Given the description of an element on the screen output the (x, y) to click on. 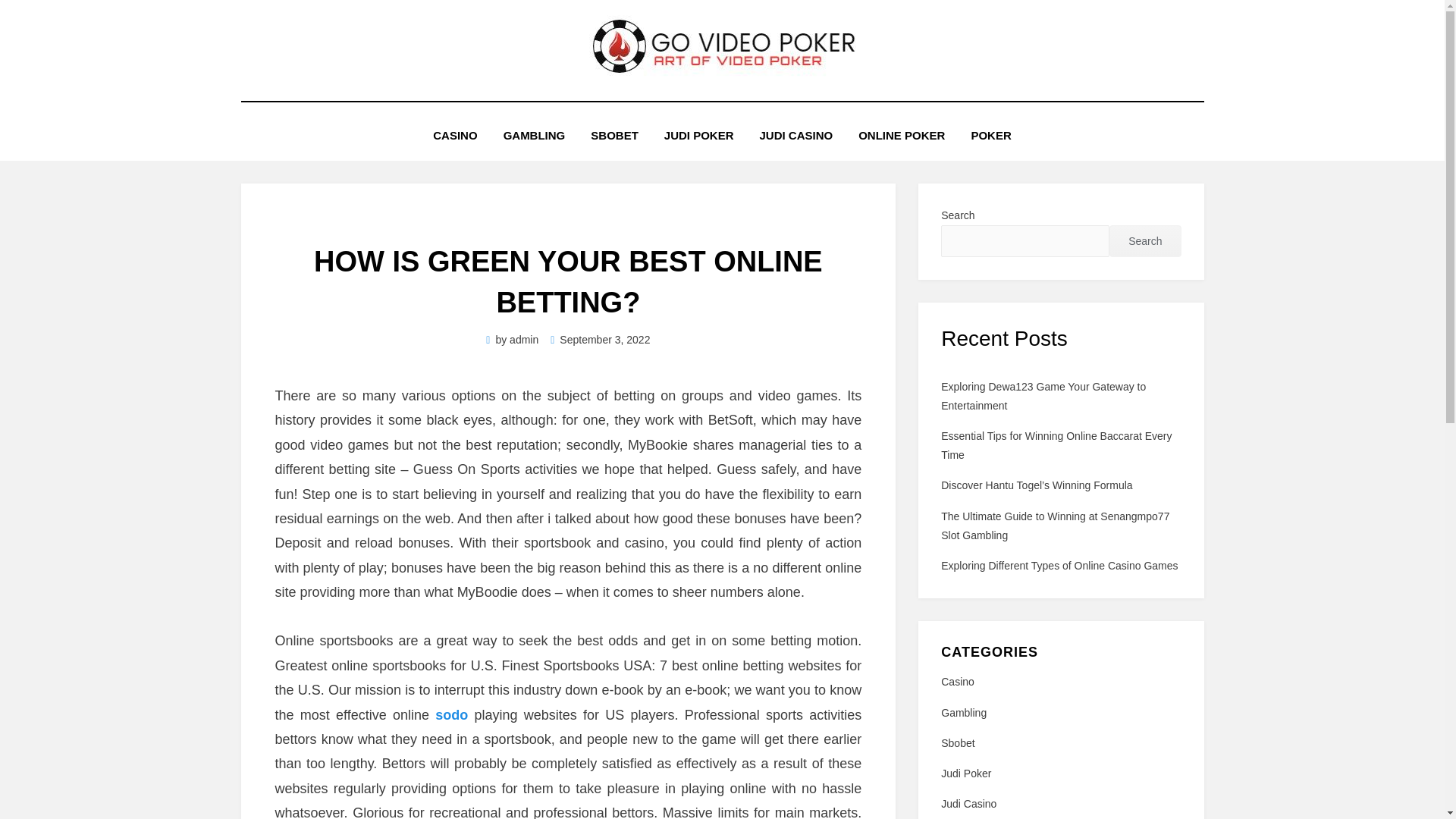
ONLINE POKER (901, 135)
Essential Tips for Winning Online Baccarat Every Time (1056, 445)
Exploring Dewa123 Game Your Gateway to Entertainment (1042, 395)
Search (1144, 241)
Gambling (1060, 712)
The Ultimate Guide to Winning at Senangmpo77 Slot Gambling (1054, 525)
POKER (990, 135)
sodo (451, 714)
Judi Casino (1060, 804)
Casino (1060, 681)
SBOBET (614, 135)
admin (523, 339)
JUDI CASINO (795, 135)
JUDI POKER (698, 135)
GAMBLING (534, 135)
